Given the description of an element on the screen output the (x, y) to click on. 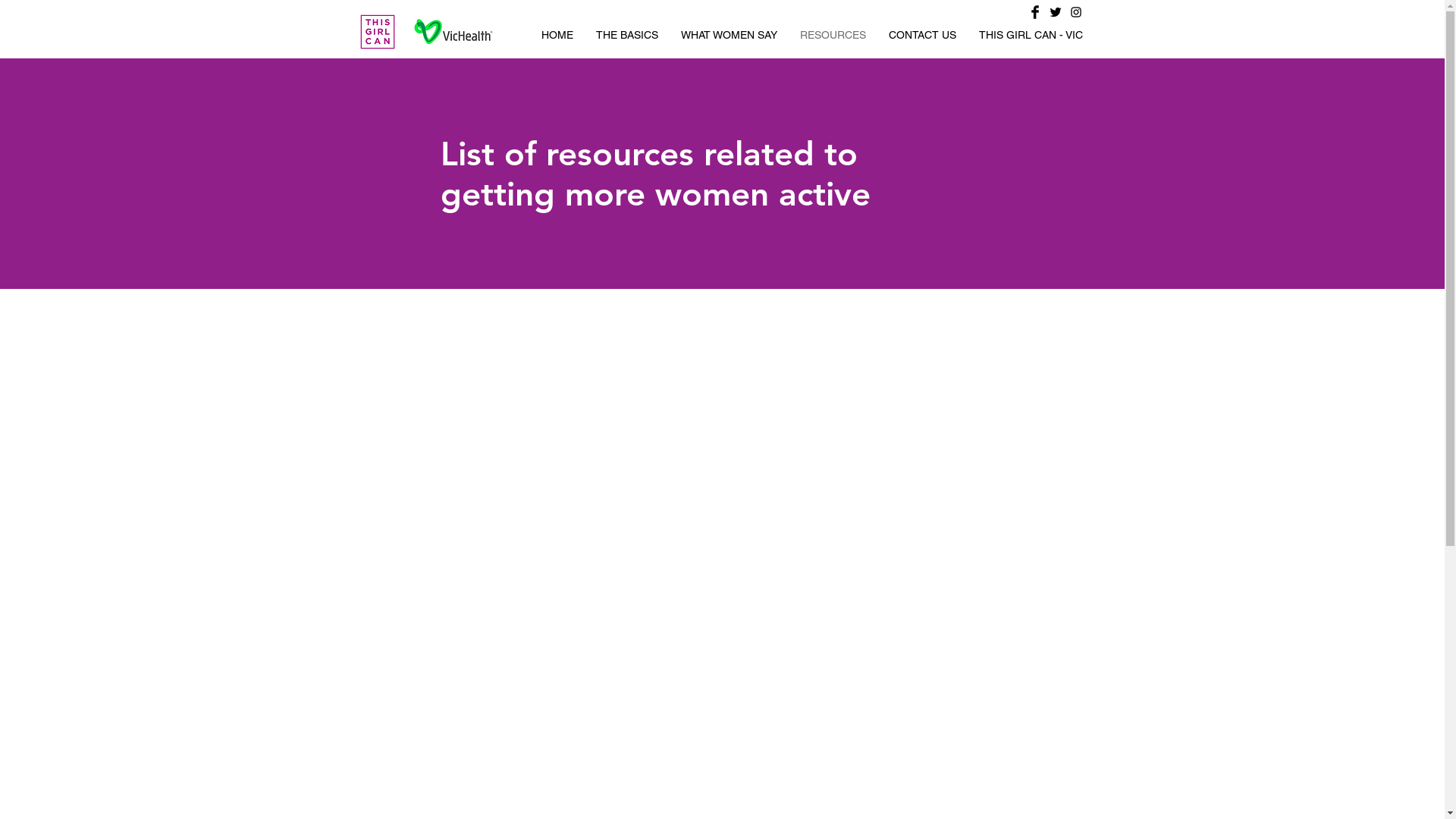
WHAT WOMEN SAY Element type: text (727, 34)
CONTACT US Element type: text (921, 34)
HOME Element type: text (556, 34)
RESOURCES Element type: text (832, 34)
THIS GIRL CAN - VIC Element type: text (1030, 34)
THE BASICS Element type: text (625, 34)
